Given the description of an element on the screen output the (x, y) to click on. 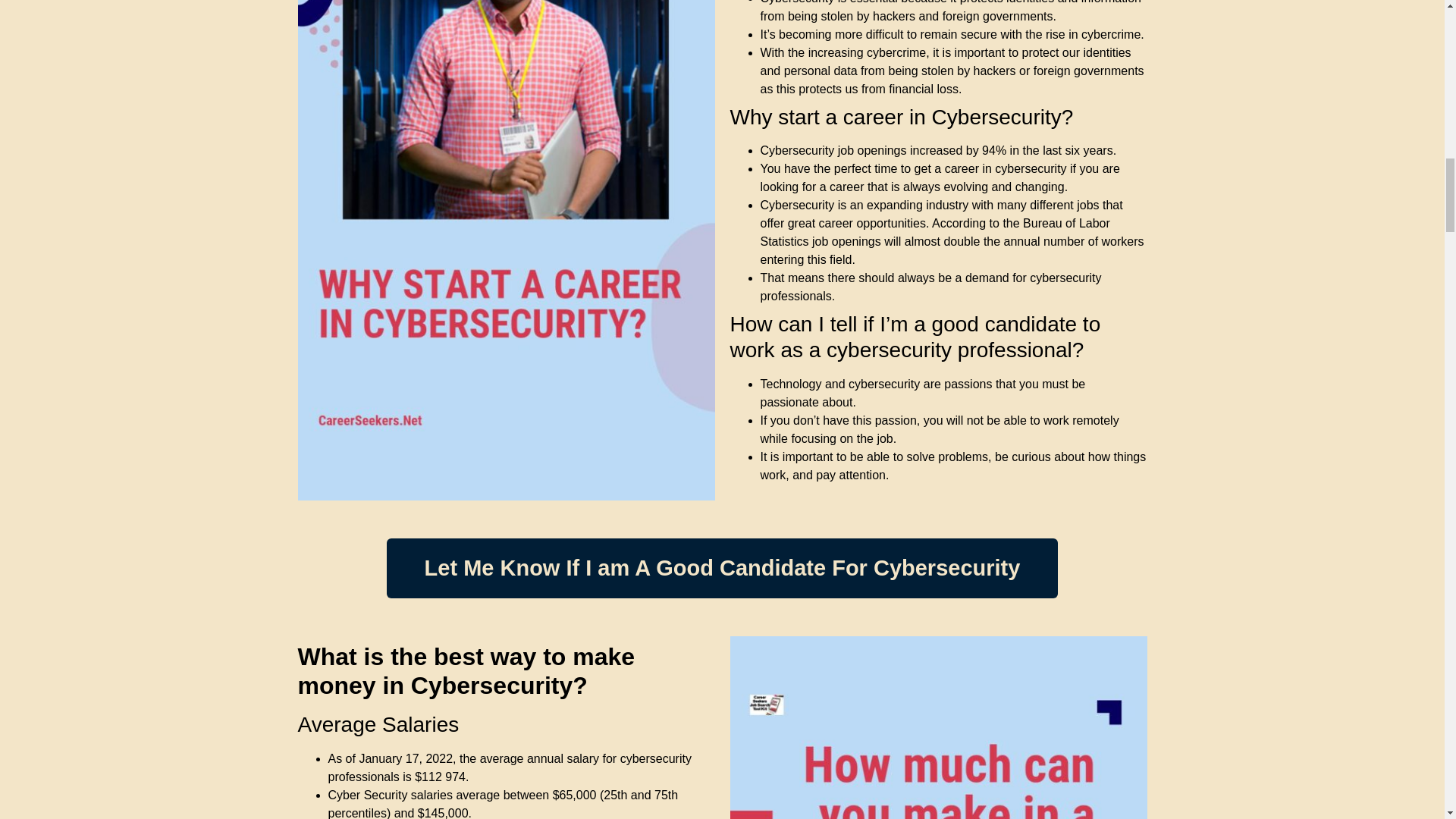
Let Me Know If I am A Good Candidate For Cybersecurity (722, 568)
